Given the description of an element on the screen output the (x, y) to click on. 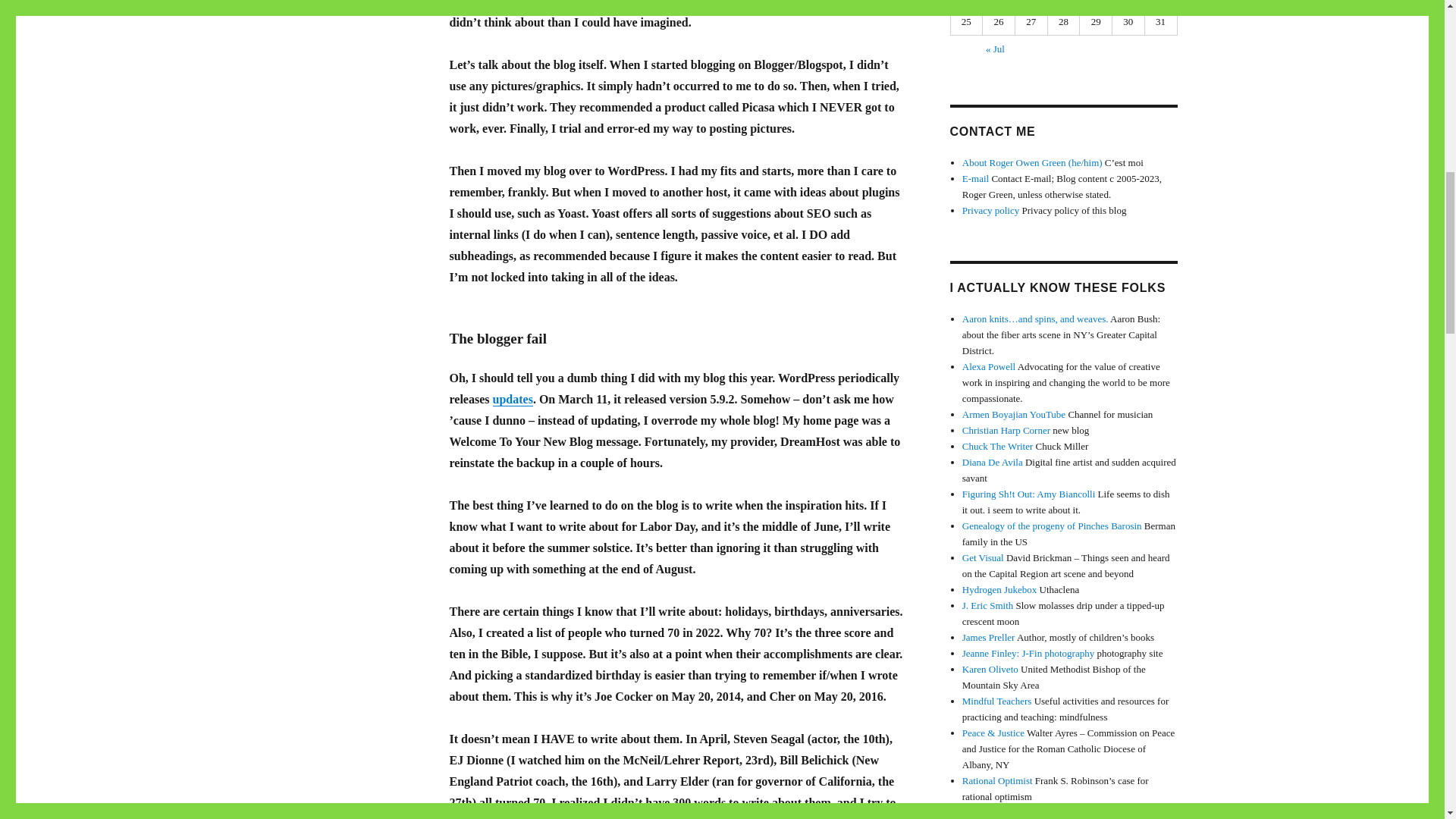
updates (512, 399)
Genealogy of the progeny of Pinches Barosin (1051, 525)
Privacy policy (990, 210)
Christian Harp Corner (1005, 430)
Privacy policy of this blog (990, 210)
Figuring Sh!t Out: Amy Biancolli (1029, 493)
James Preller (988, 636)
Chuck Miller (997, 446)
E-mail (975, 178)
Rational Optimist (997, 780)
J. Eric Smith (987, 604)
Hydrogen Jukebox (999, 589)
Chuck The Writer (997, 446)
Diana De Avila (992, 461)
Rebecca Jade music (1002, 812)
